Given the description of an element on the screen output the (x, y) to click on. 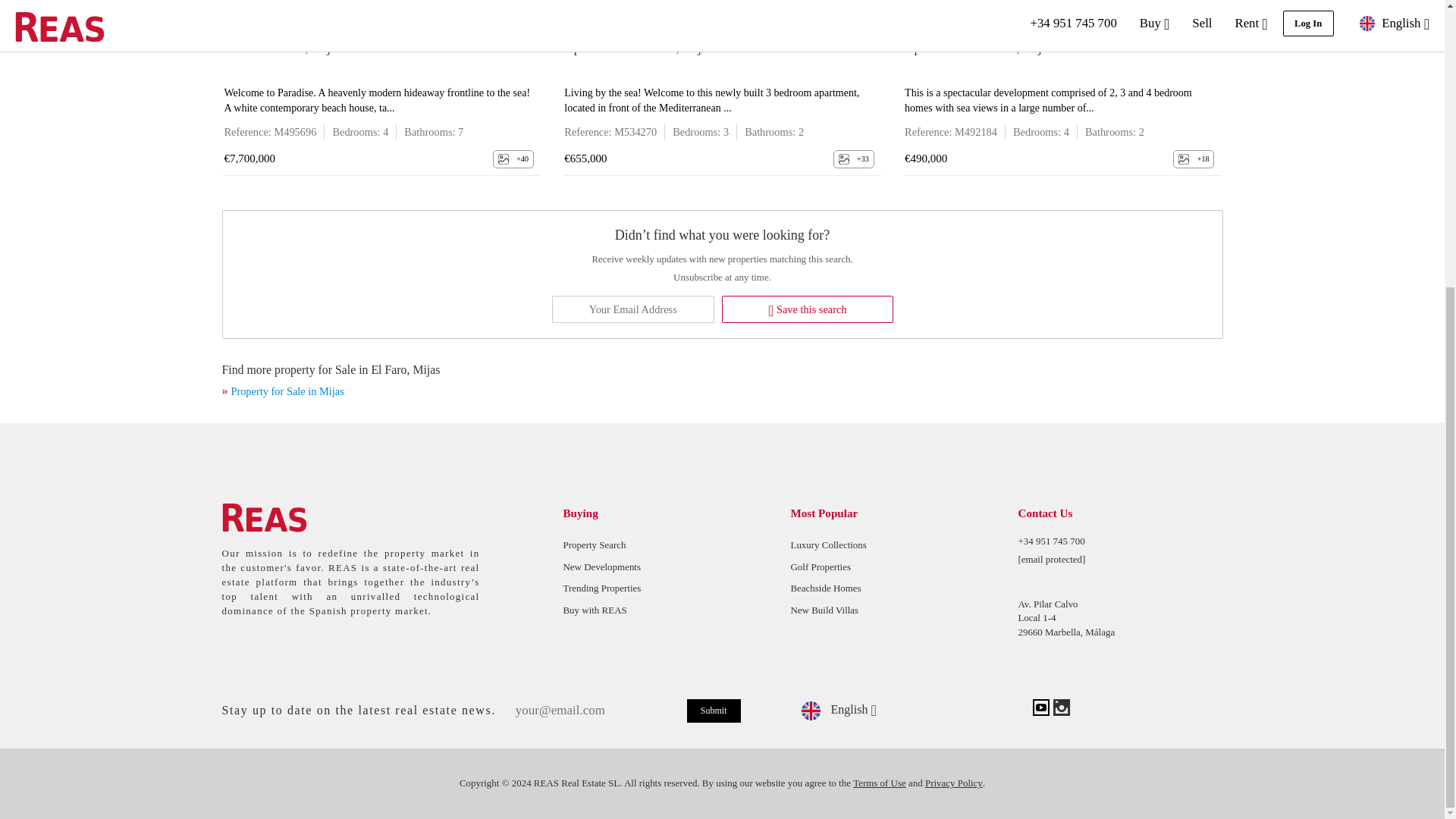
Submit (714, 710)
